Given the description of an element on the screen output the (x, y) to click on. 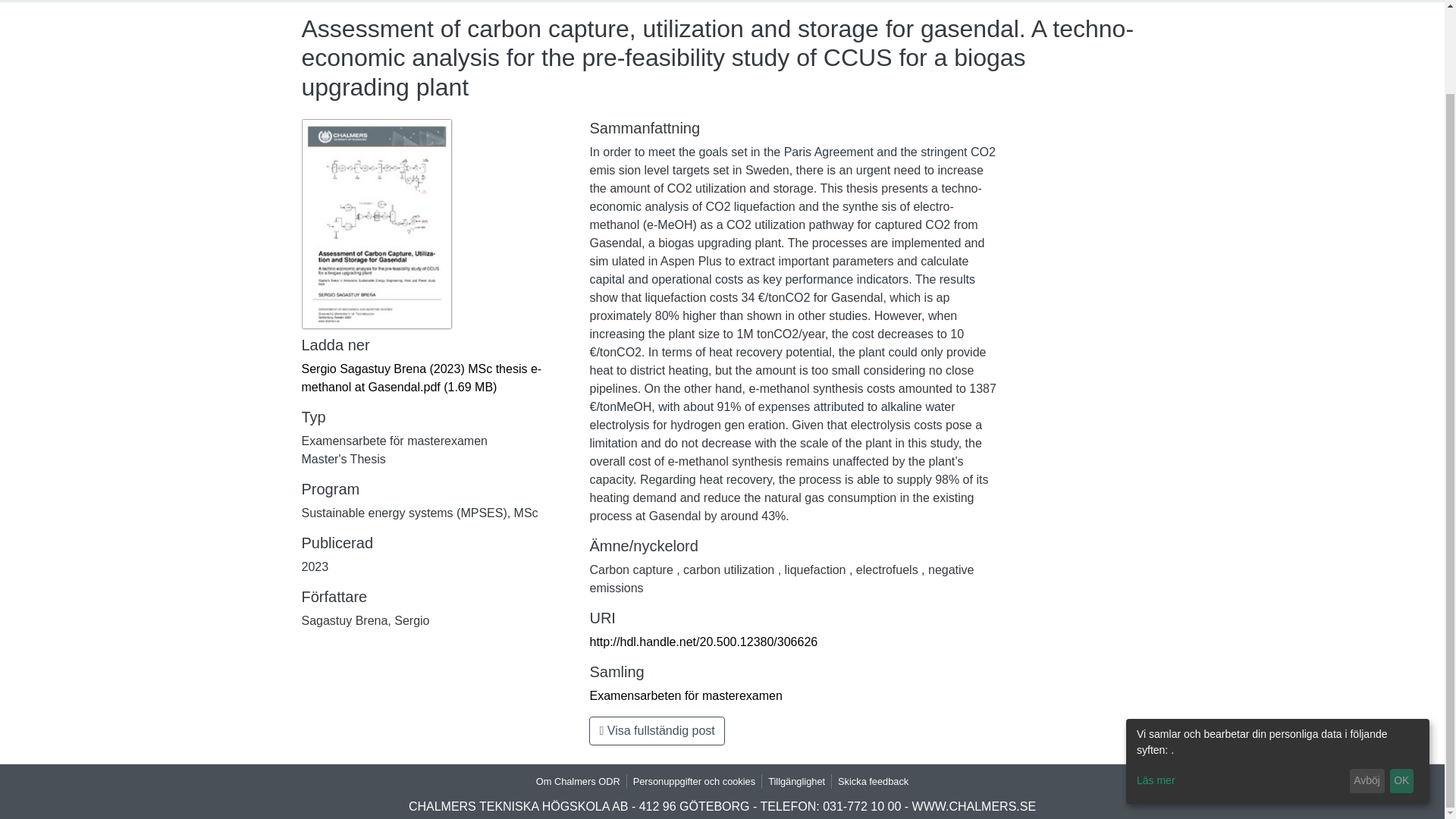
Skicka feedback (872, 780)
WWW.CHALMERS.SE (974, 806)
Om Chalmers ODR (577, 780)
OK (1401, 686)
Personuppgifter och cookies (694, 780)
